Given the description of an element on the screen output the (x, y) to click on. 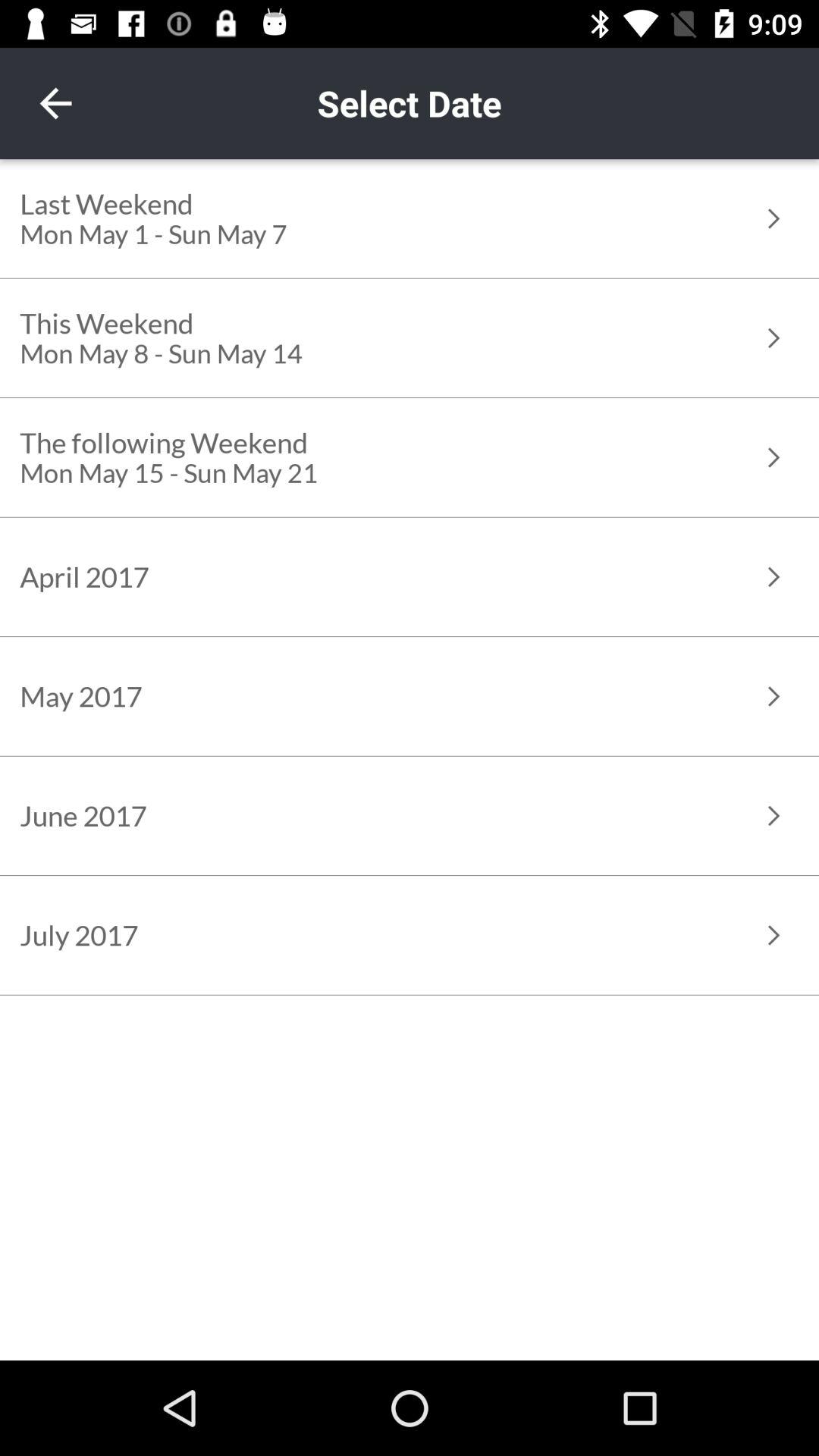
launch icon next to the select date icon (55, 103)
